Given the description of an element on the screen output the (x, y) to click on. 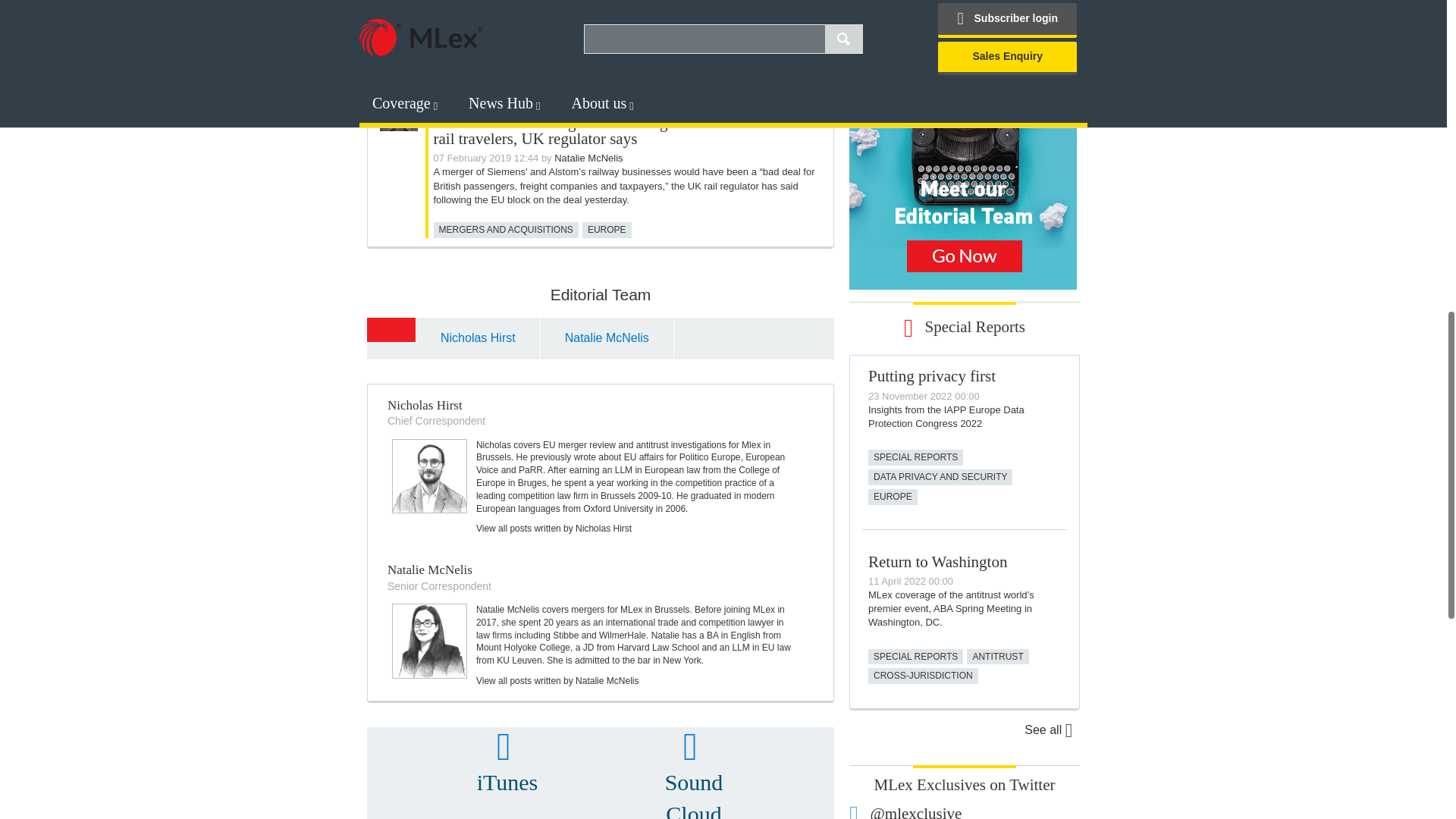
Natalie McNelis (429, 641)
Nicholas Hirst (429, 476)
Meet the MLex Editorial Team (962, 194)
